Given the description of an element on the screen output the (x, y) to click on. 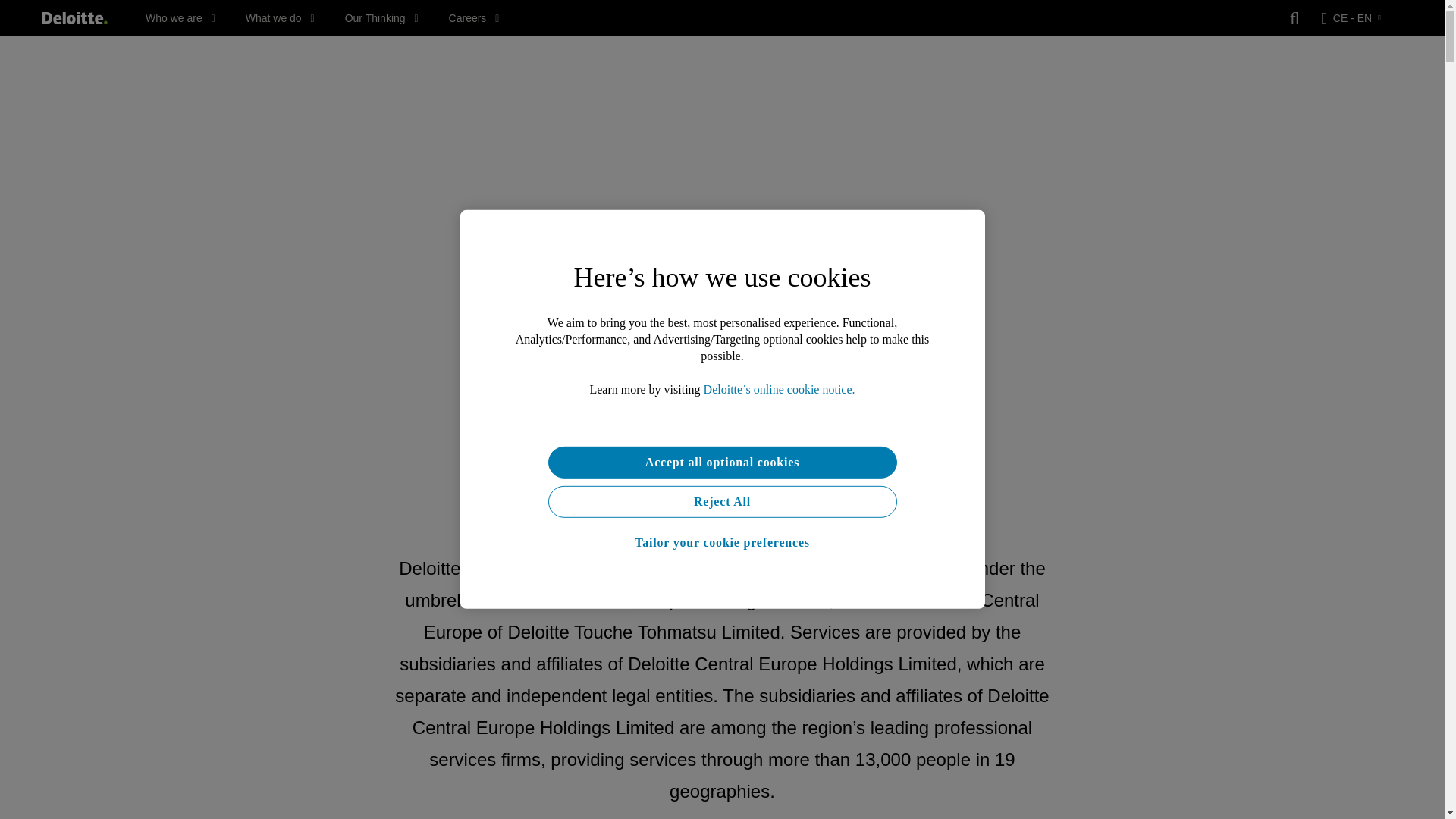
Our Thinking (382, 18)
Careers (473, 18)
Deloitte (74, 18)
What we do (280, 18)
Who we are (180, 18)
